Given the description of an element on the screen output the (x, y) to click on. 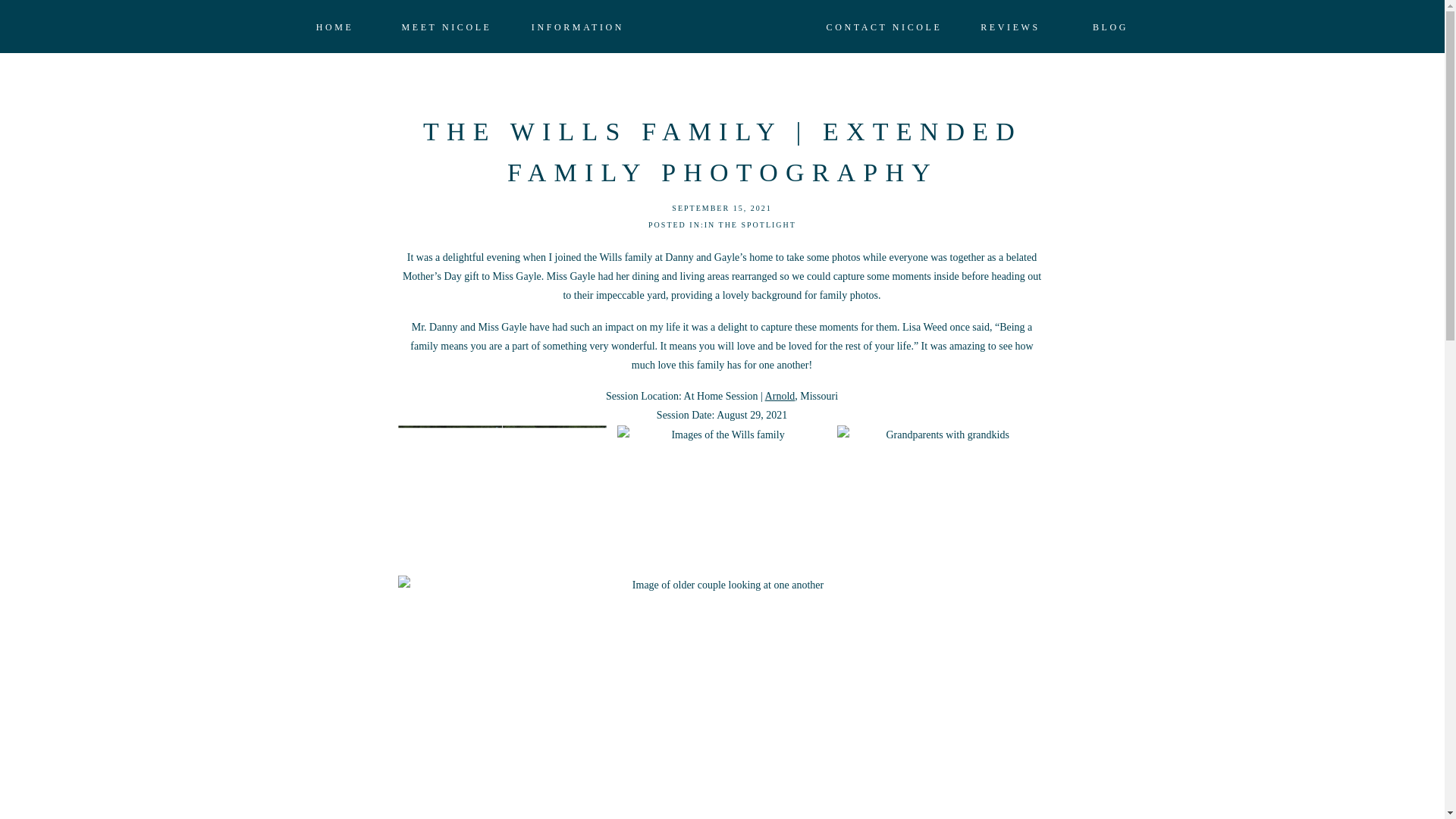
BLOG (1109, 26)
IN THE SPOTLIGHT (750, 224)
MEET NICOLE (446, 26)
REVIEWS (1010, 26)
HOME (334, 26)
CONTACT NICOLE (883, 26)
Arnold (779, 396)
INFORMATION (577, 26)
